Given the description of an element on the screen output the (x, y) to click on. 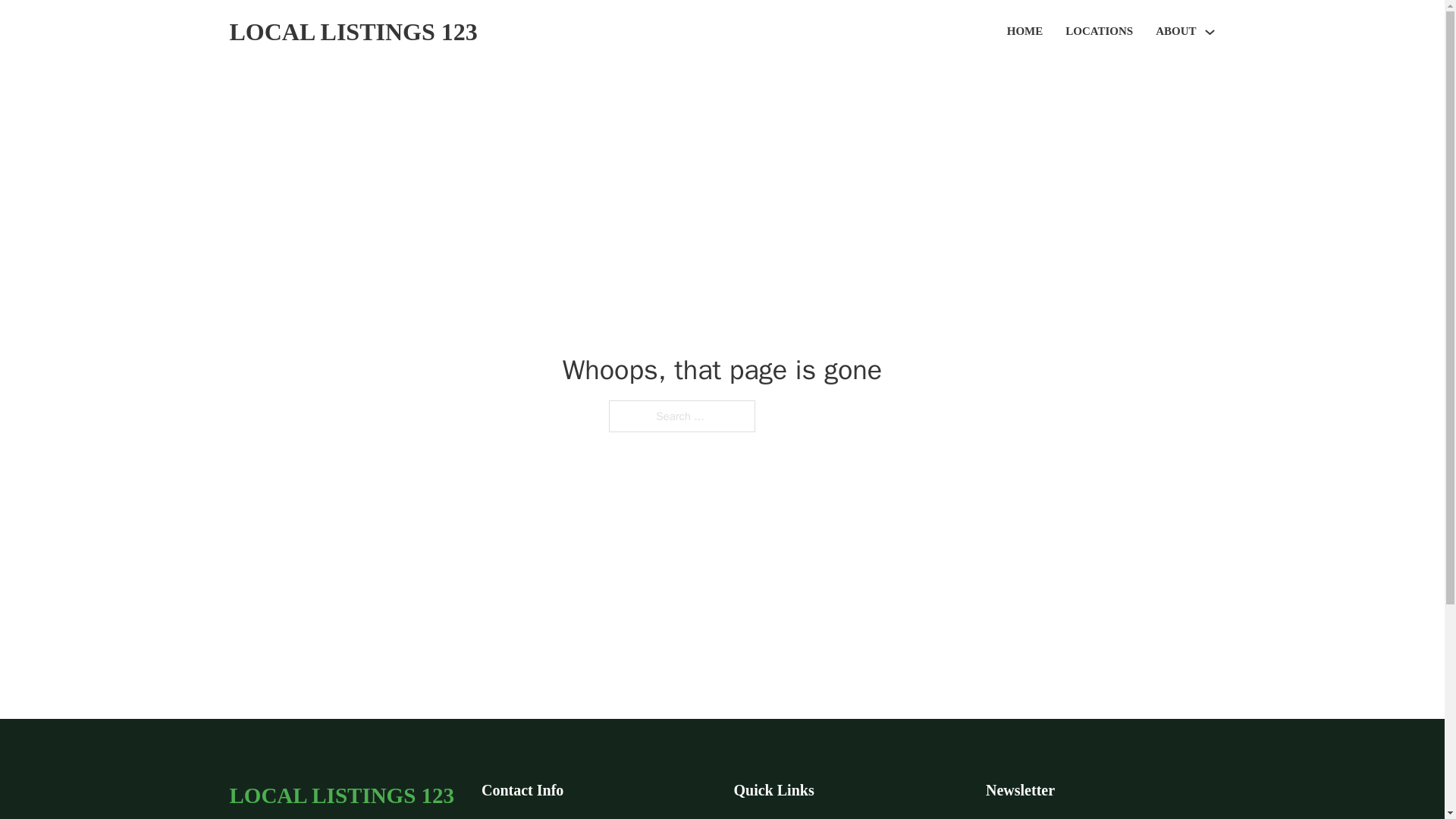
HOME (1025, 31)
LOCAL LISTINGS 123 (352, 31)
LOCAL LISTINGS 123 (341, 795)
LOCATIONS (1098, 31)
